Given the description of an element on the screen output the (x, y) to click on. 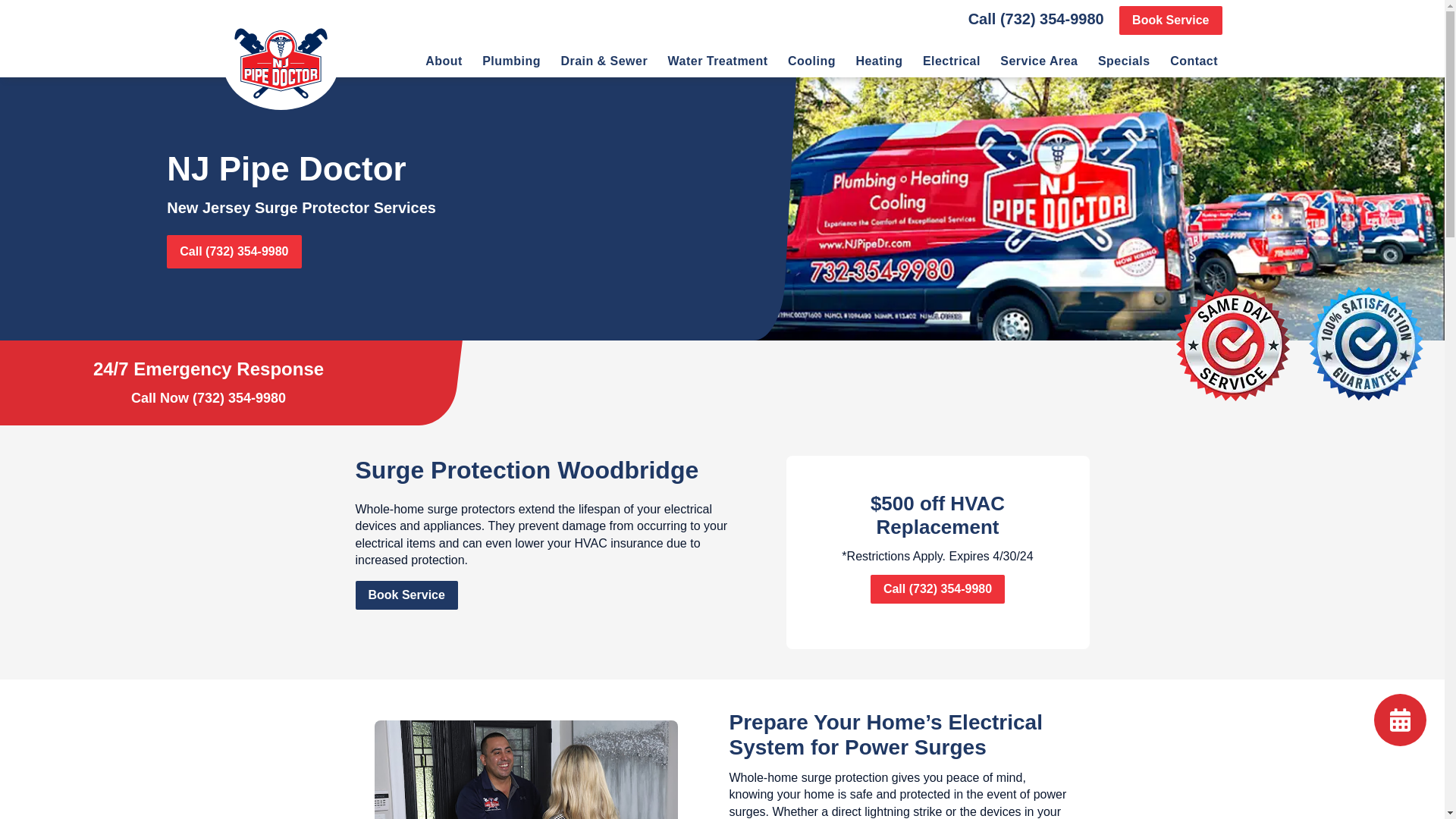
Cooling (811, 63)
Plumbing (511, 63)
About (443, 63)
Book Service (1170, 20)
Water Treatment (717, 63)
Heating (879, 63)
